Given the description of an element on the screen output the (x, y) to click on. 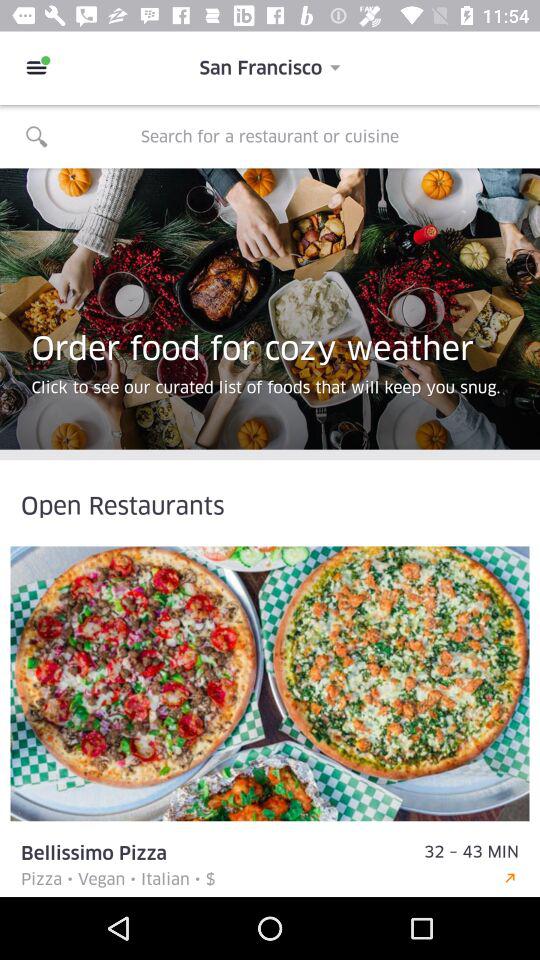
choose the icon to the left of san francisco item (36, 68)
